Given the description of an element on the screen output the (x, y) to click on. 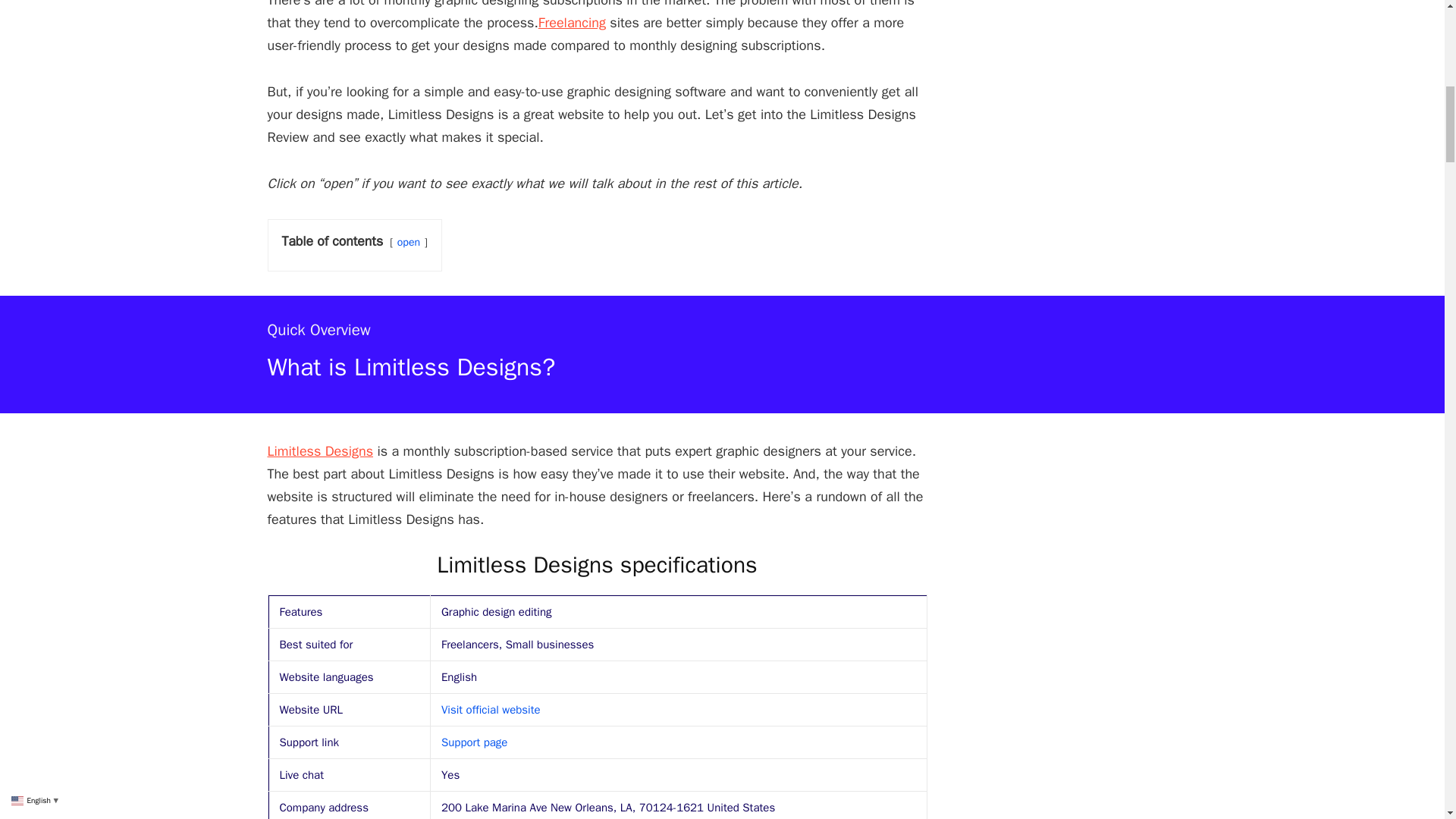
Support page (473, 742)
Freelancing (571, 22)
Visit official website (490, 709)
Freelancing (571, 22)
Visit official website (490, 709)
open (408, 241)
Limitless Designs (319, 451)
